Given the description of an element on the screen output the (x, y) to click on. 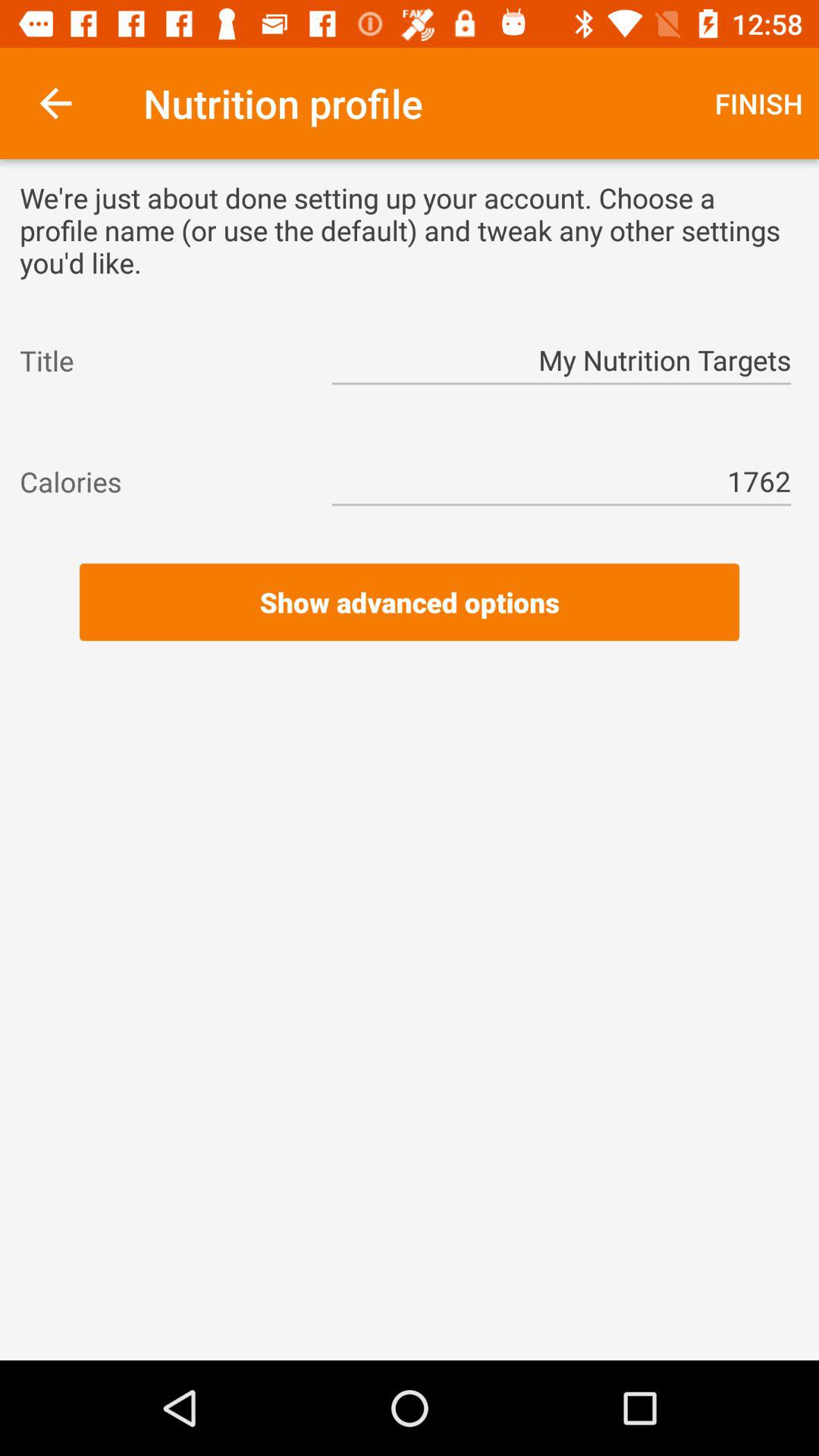
press item above the we re just (55, 103)
